Given the description of an element on the screen output the (x, y) to click on. 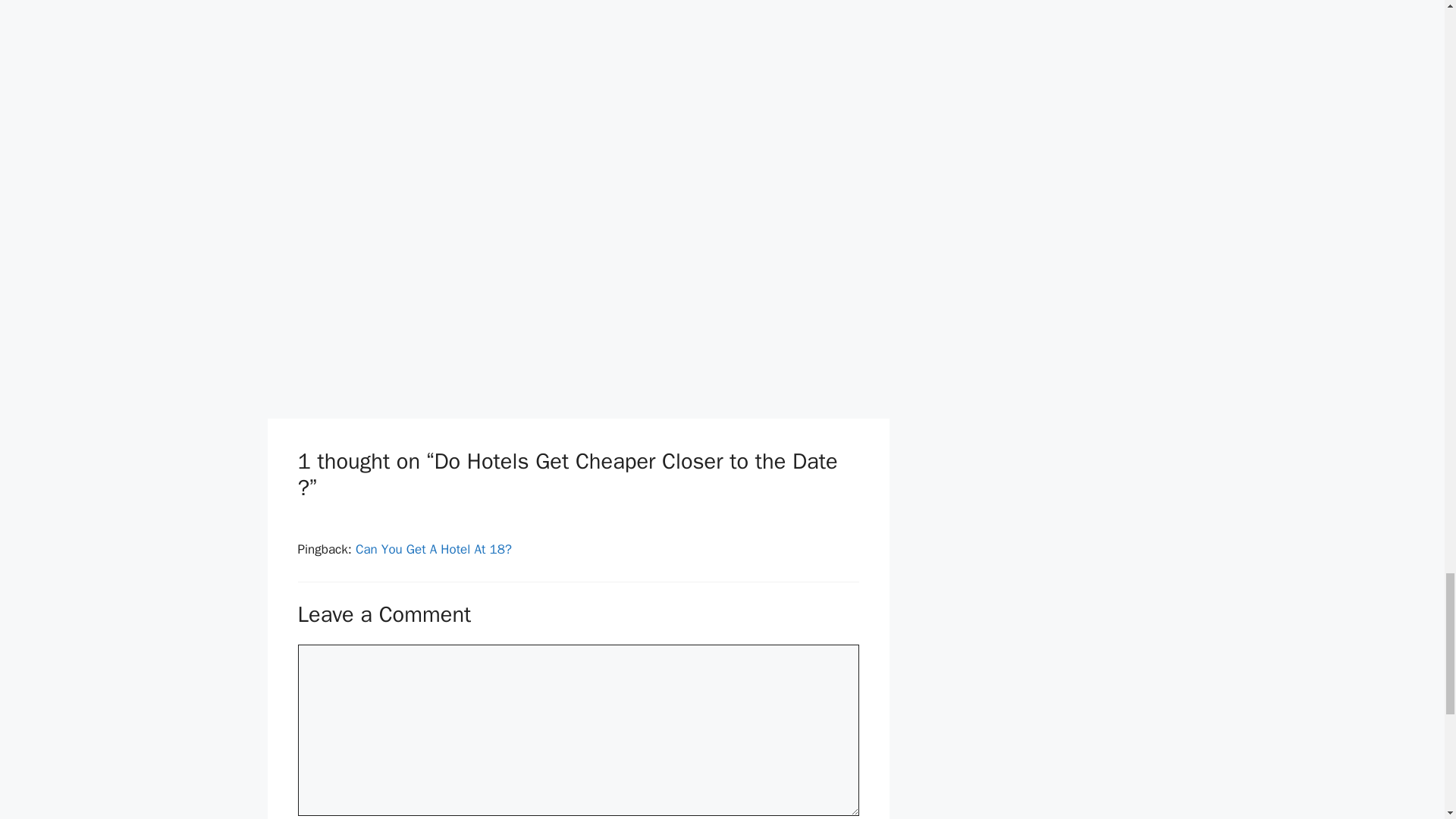
Can You Get A Hotel At 18? (433, 549)
